Given the description of an element on the screen output the (x, y) to click on. 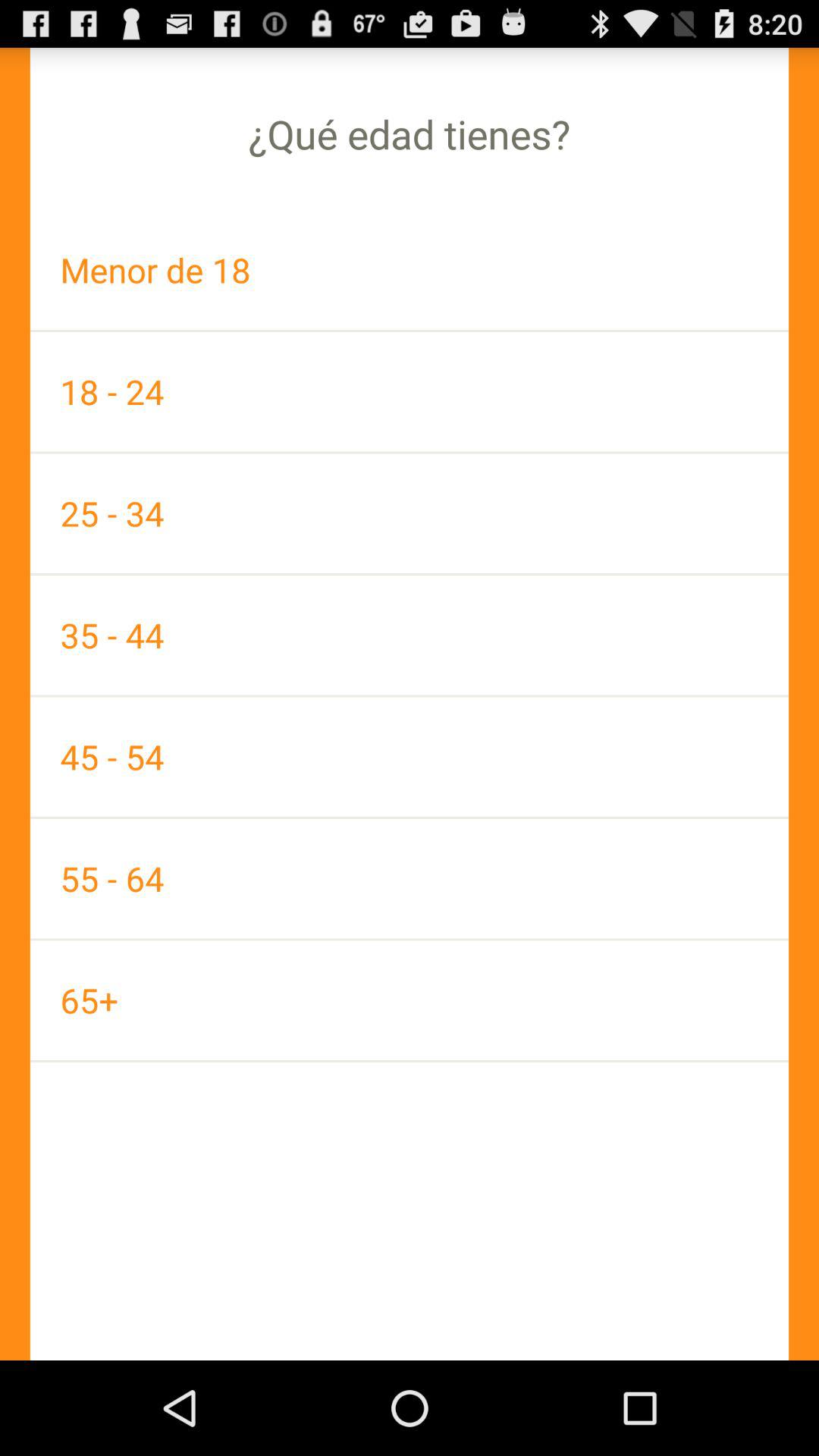
scroll until the 25 - 34 icon (409, 513)
